Given the description of an element on the screen output the (x, y) to click on. 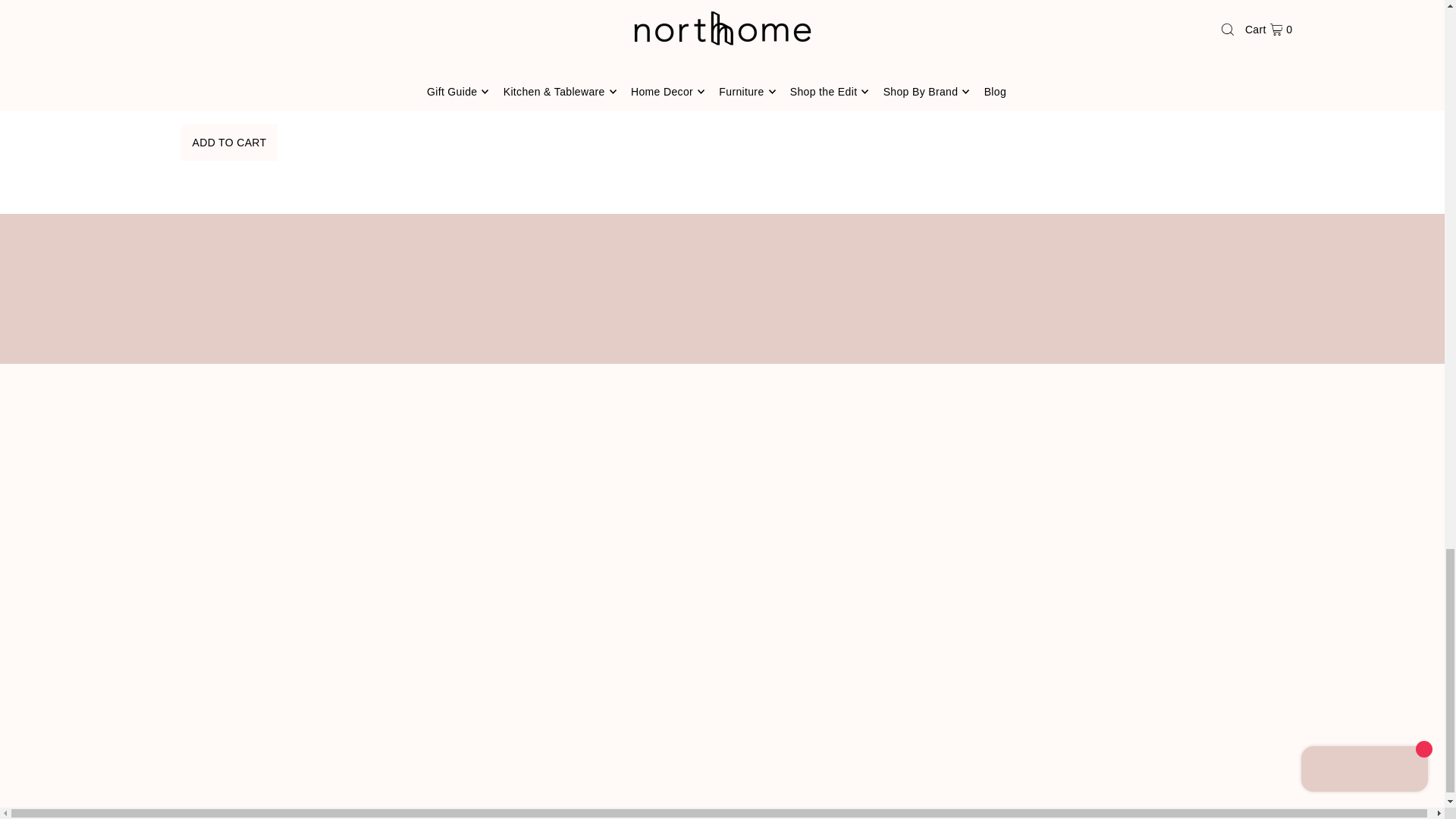
Add to Cart (229, 142)
Glass Vase Monochrome (228, 30)
